Given the description of an element on the screen output the (x, y) to click on. 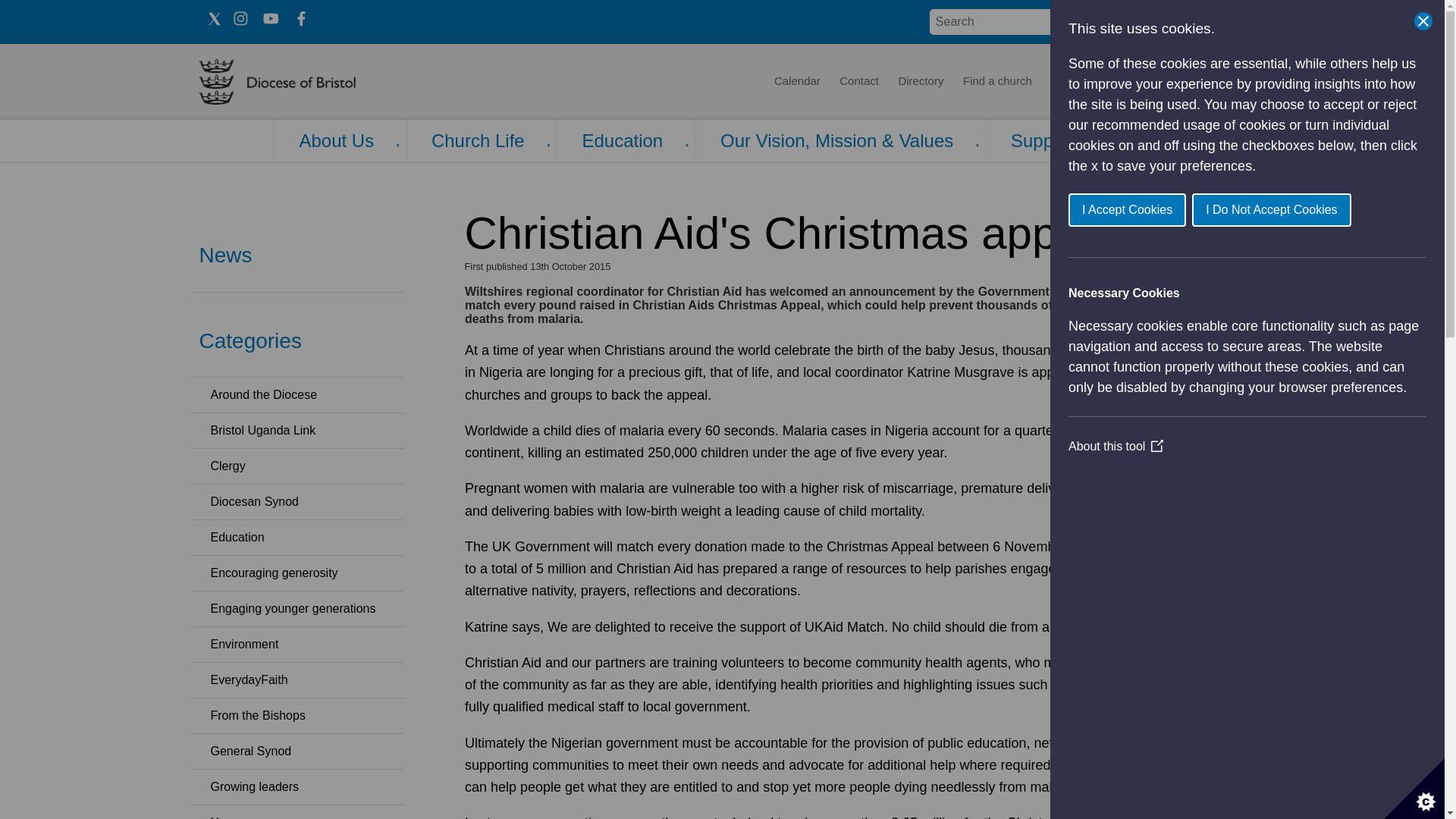
I Accept Cookies (1156, 209)
News (1064, 81)
Safeguarding (1203, 81)
Contact (858, 81)
I Do Not Accept Cookies (1293, 209)
Calendar (797, 81)
Logo (323, 81)
